Given the description of an element on the screen output the (x, y) to click on. 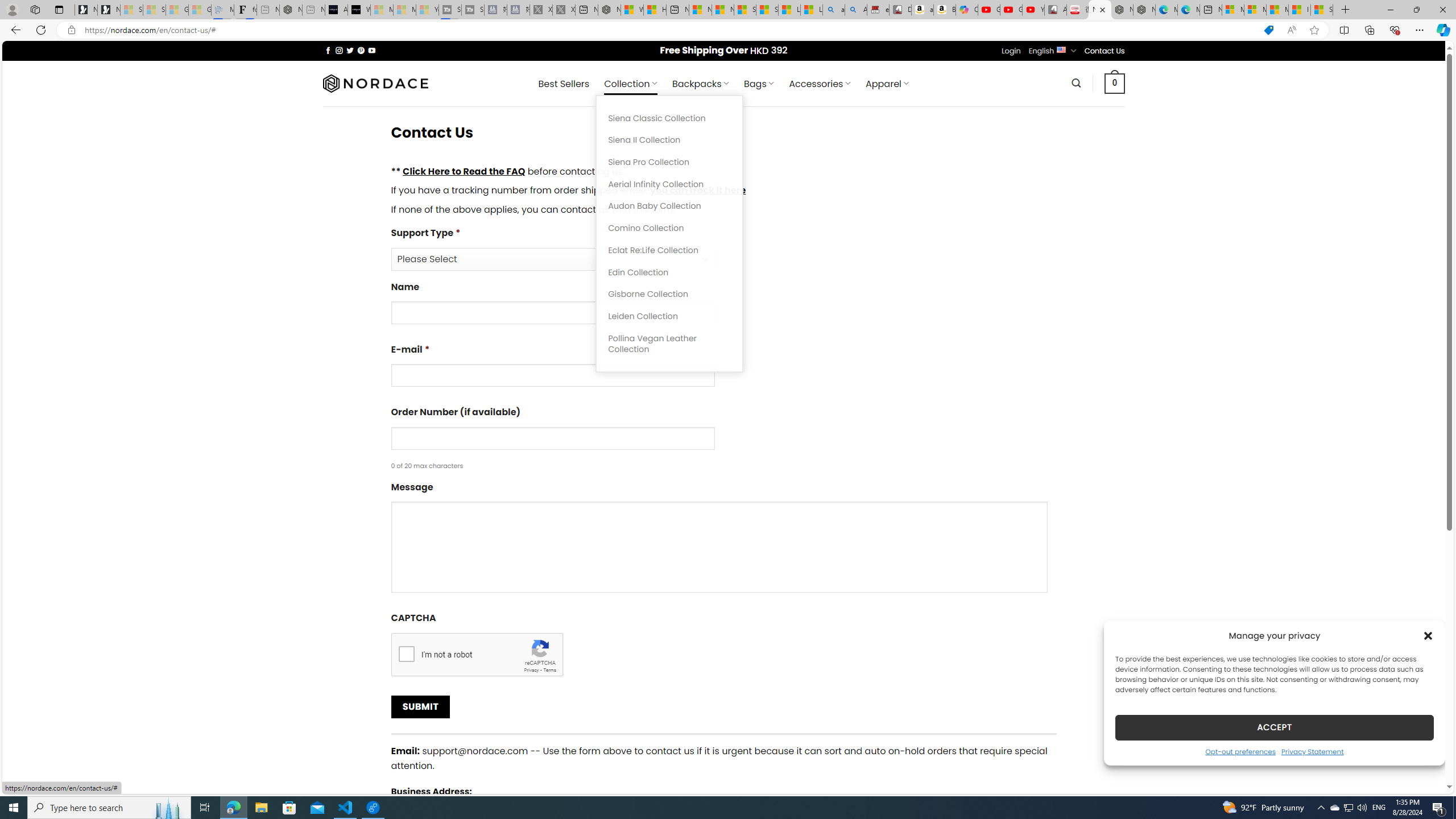
Nordace - My Account (609, 9)
ACCEPT (1274, 727)
Siena Pro Collection (669, 162)
Submit (419, 707)
Eclat Re:Life Collection (669, 250)
